Given the description of an element on the screen output the (x, y) to click on. 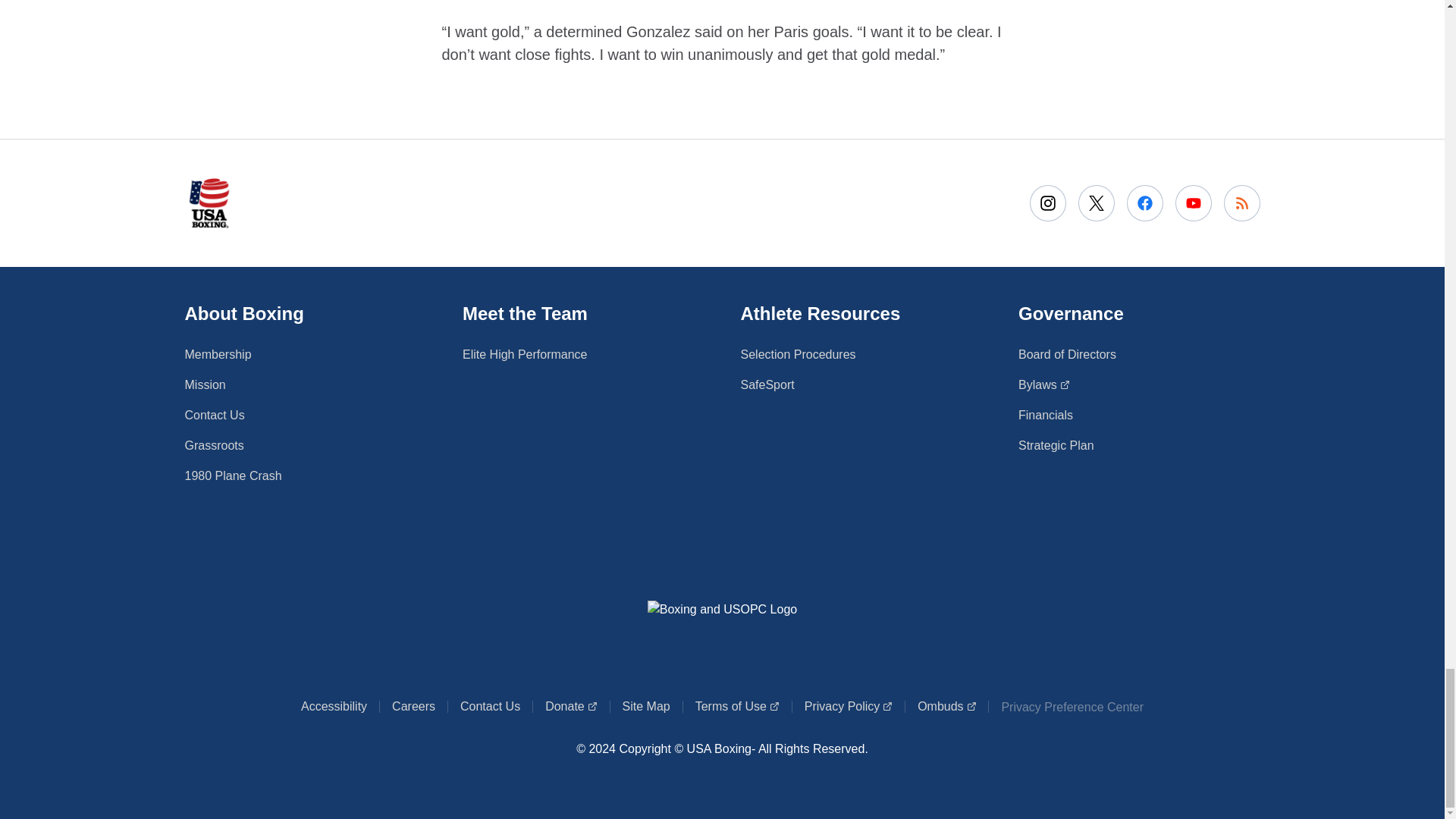
1980 Plane Crash (233, 475)
Accessibility (333, 706)
Go to Twitter (1096, 202)
Board of Directors (1066, 354)
Grassroots (214, 445)
Elite High Performance (736, 706)
Careers (525, 354)
Selection Procedures (413, 706)
Membership (797, 354)
Financials (217, 354)
Strategic Plan (1045, 415)
Go to Facebook (1055, 445)
Site Map (848, 706)
